Given the description of an element on the screen output the (x, y) to click on. 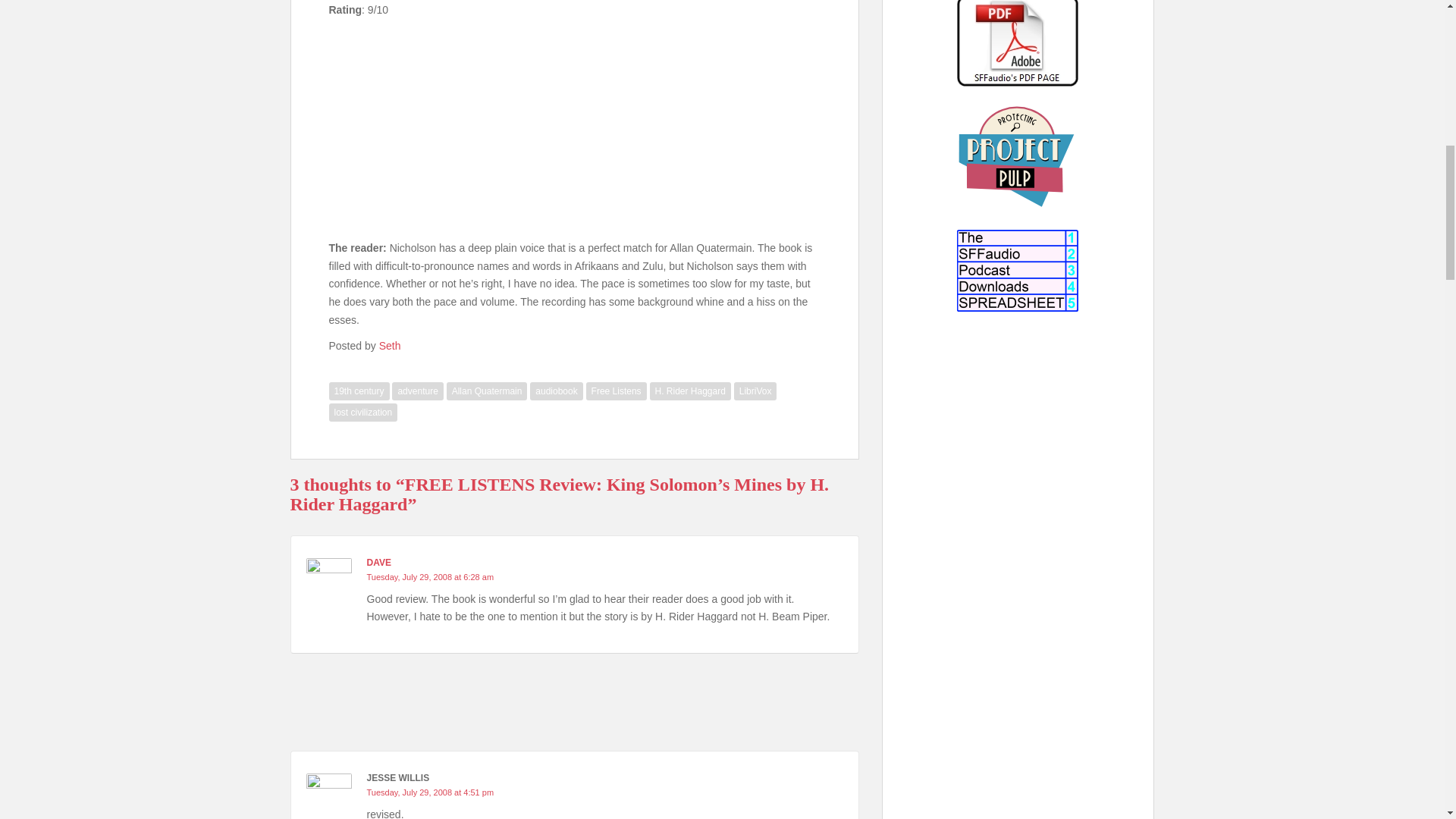
Advertisement (1018, 546)
The SFFaudio Podcast Downloads SPREADSHEET (1017, 271)
Advertisement (574, 694)
19th century (359, 391)
Seth (389, 345)
Advertisement (575, 133)
